Given the description of an element on the screen output the (x, y) to click on. 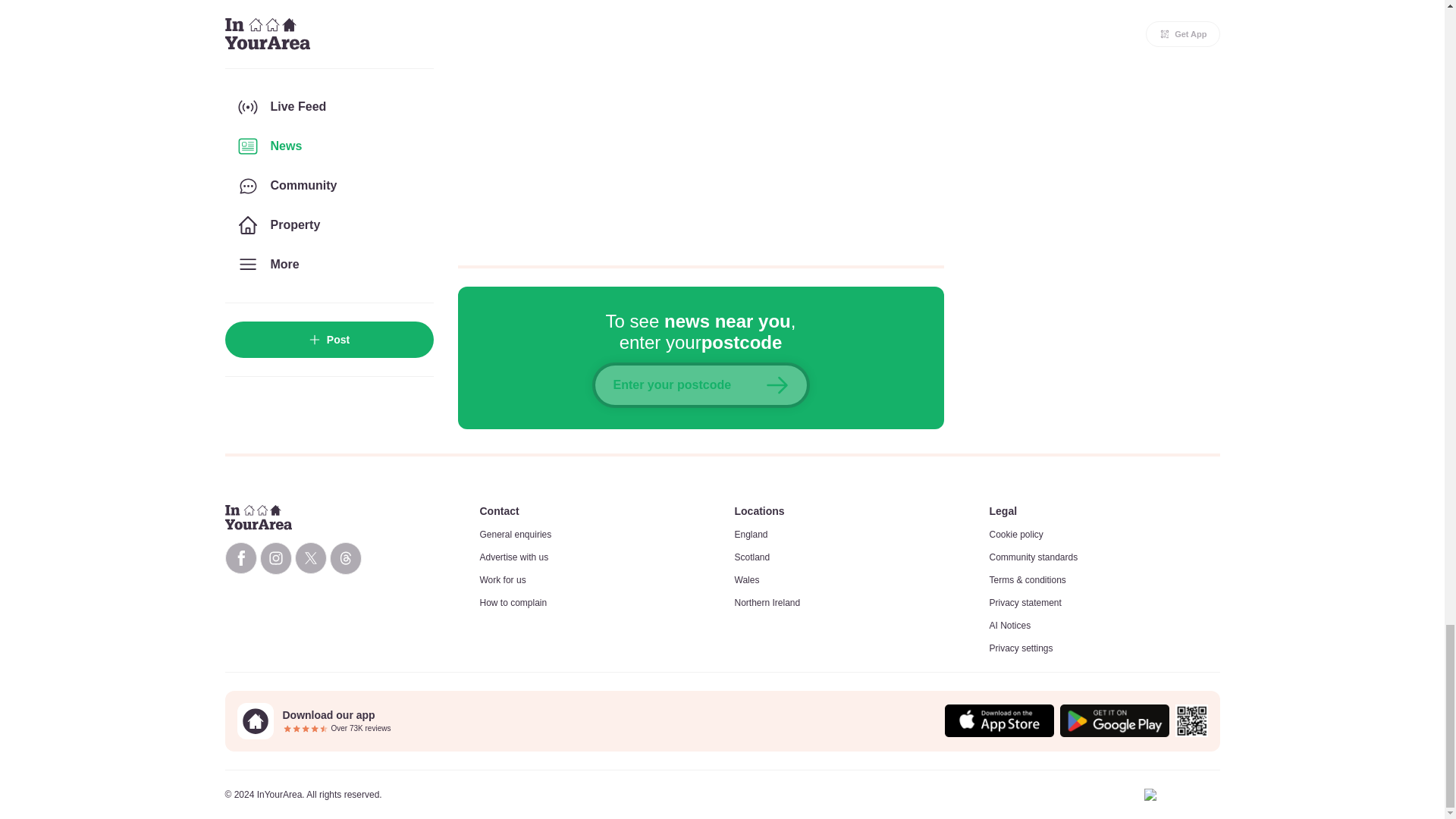
InYourArea Instagram (275, 558)
InYourArea Facebook (240, 558)
InYourArea X (310, 558)
InYourArea Threads (345, 558)
comments (701, 122)
